Given the description of an element on the screen output the (x, y) to click on. 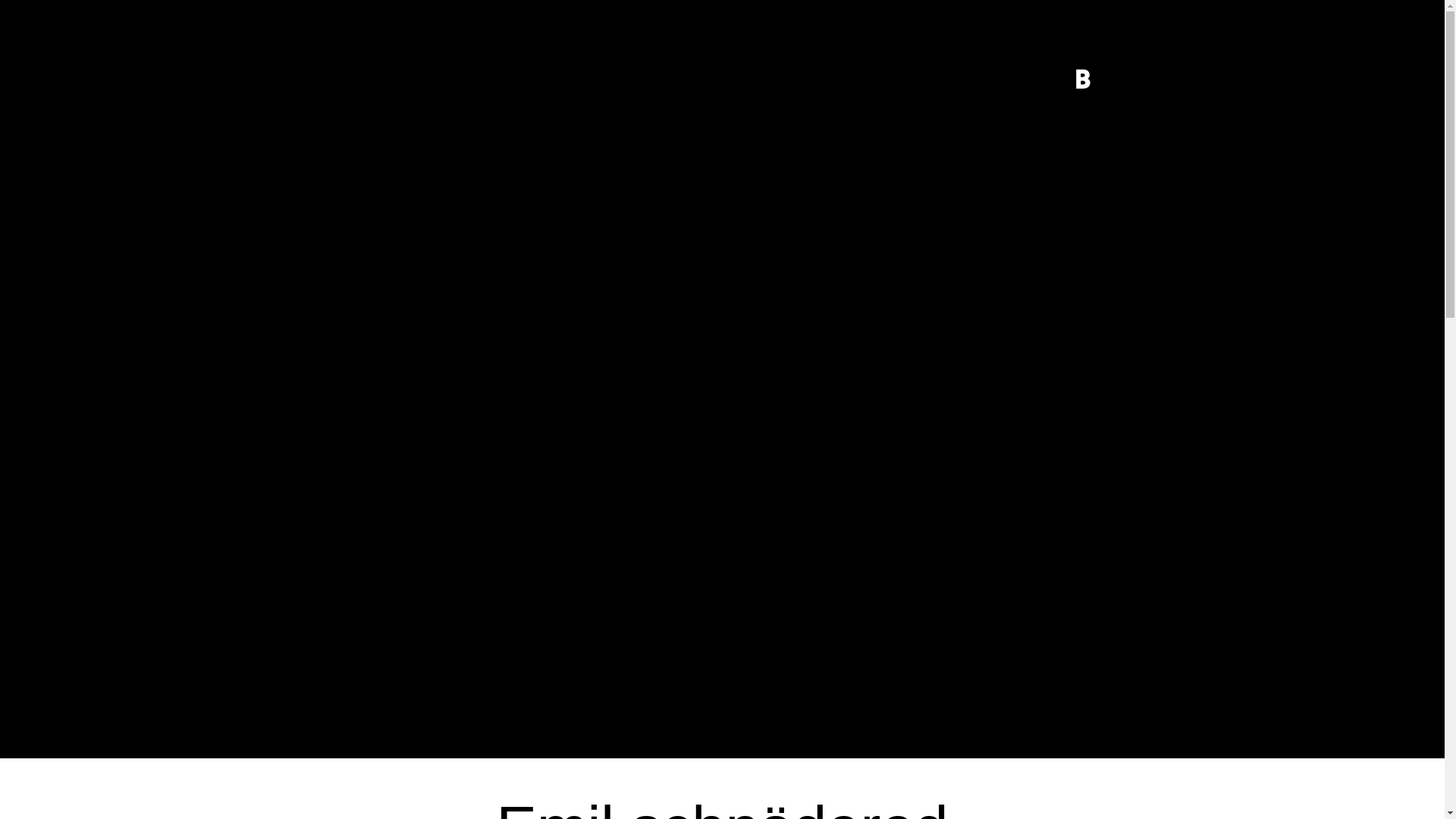
emil. Foto:  Element type: hover (564, 379)
25 Element type: text (1132, 27)
